Given the description of an element on the screen output the (x, y) to click on. 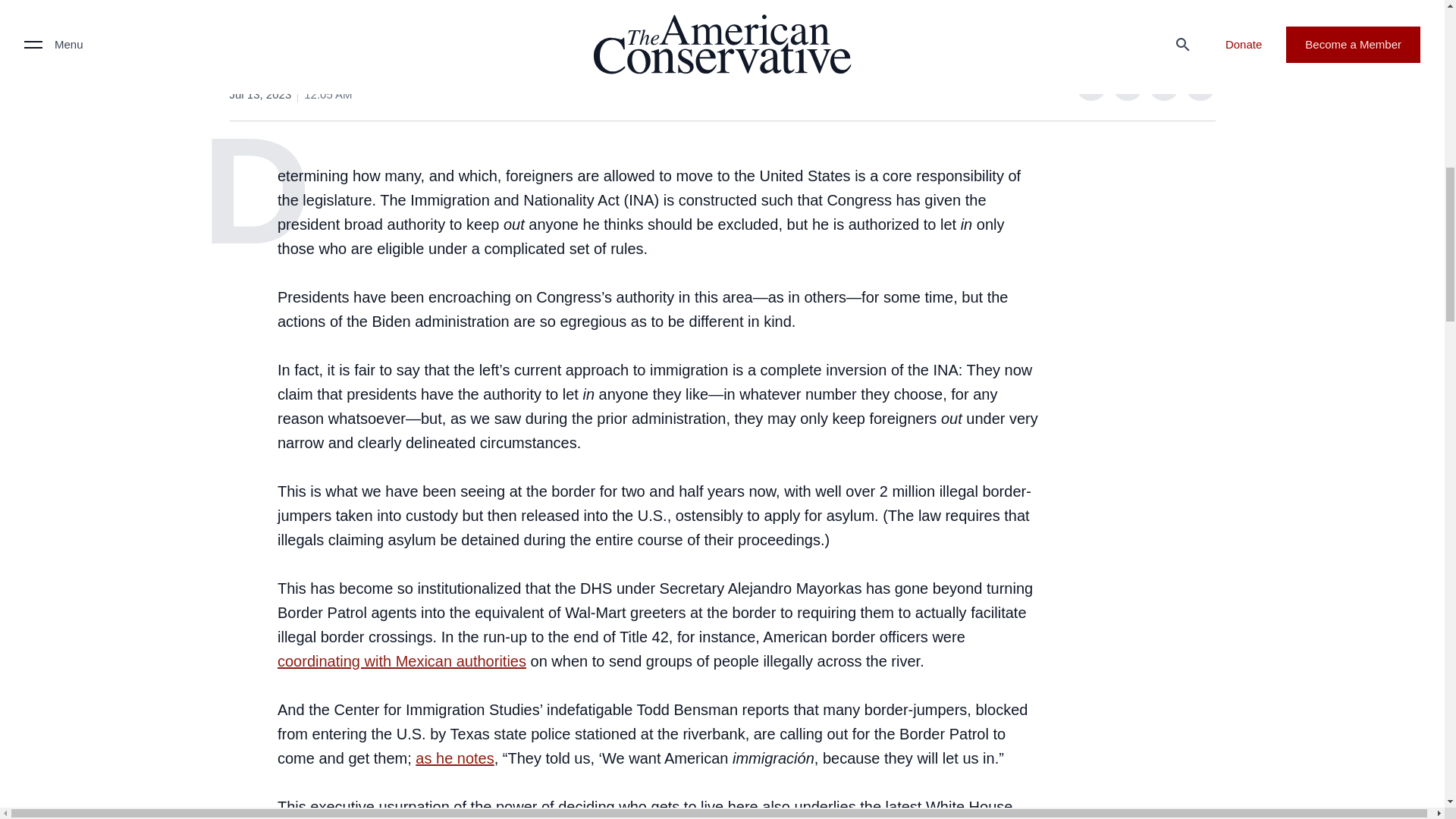
Mark Krikorian (268, 75)
as he notes (453, 757)
coordinating with Mexican authorities (401, 660)
